Given the description of an element on the screen output the (x, y) to click on. 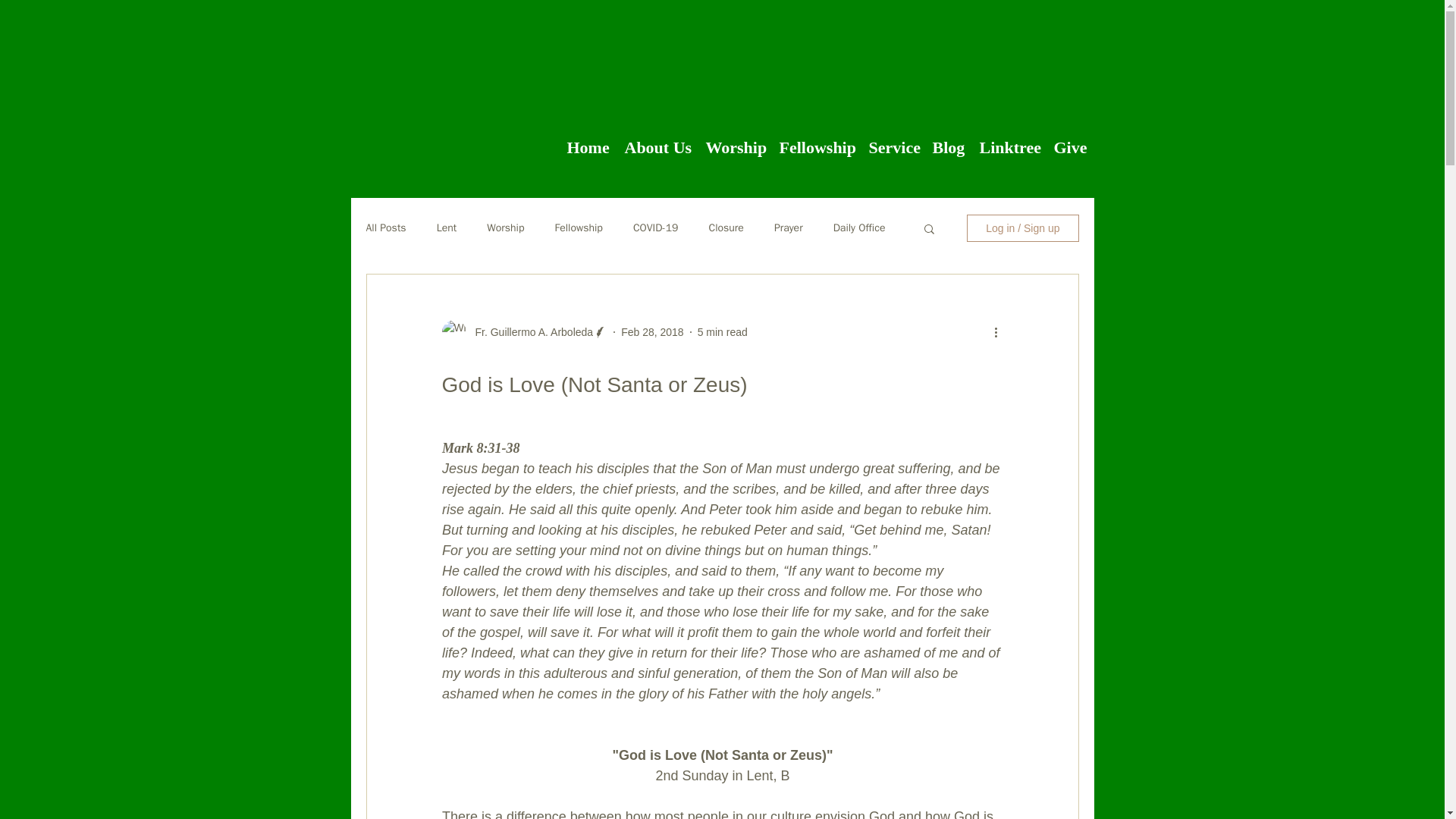
About Us (657, 142)
Fellowship (816, 142)
Worship (505, 228)
Service (892, 142)
All Posts (385, 228)
Home (588, 142)
Lent (446, 228)
Worship (734, 142)
Daily Office (858, 228)
Give (1069, 142)
